Given the description of an element on the screen output the (x, y) to click on. 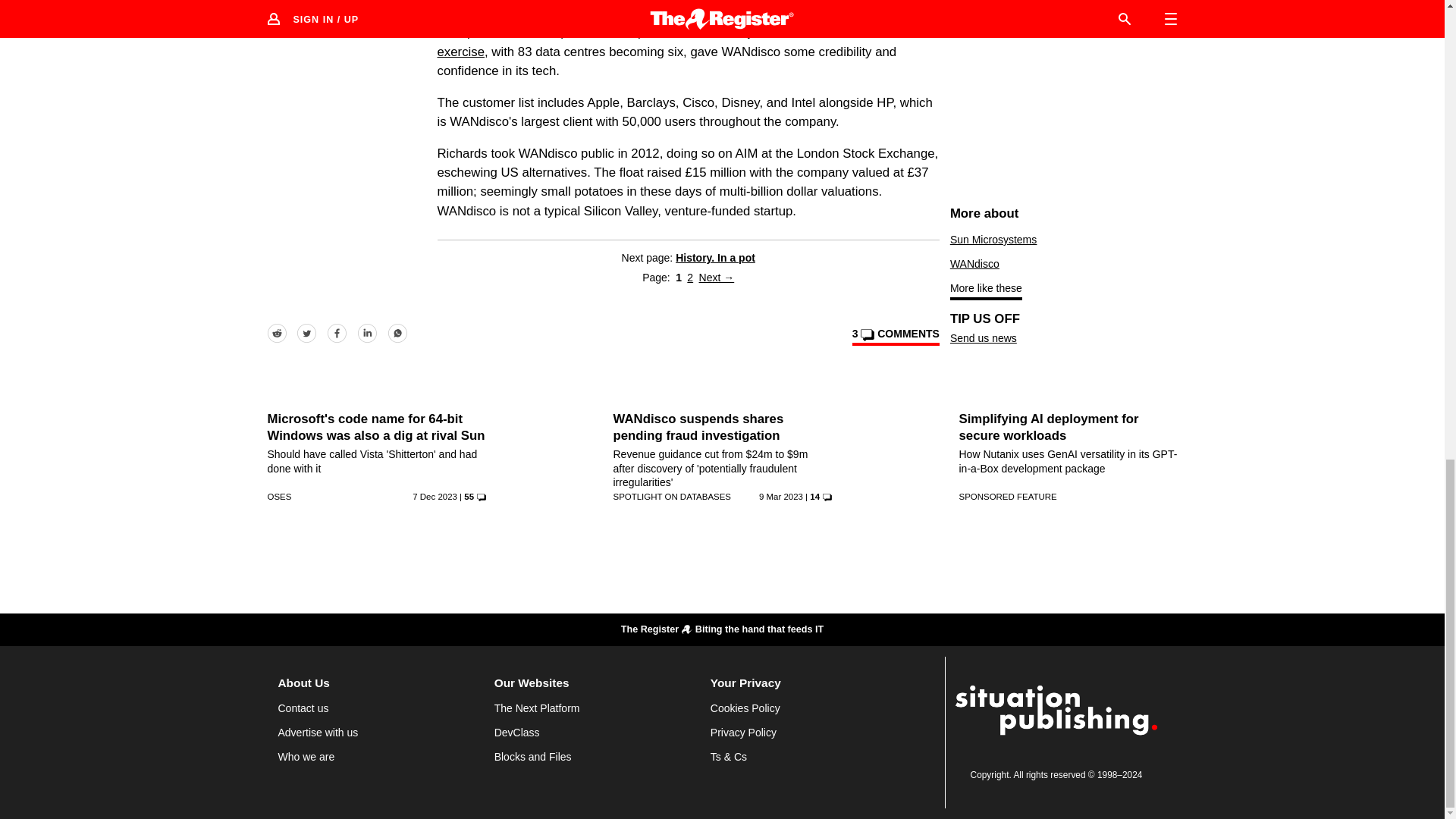
7 Dec 2023 9:30 (434, 496)
9 Mar 2023 12:28 (780, 496)
View comments on this article (895, 336)
